Given the description of an element on the screen output the (x, y) to click on. 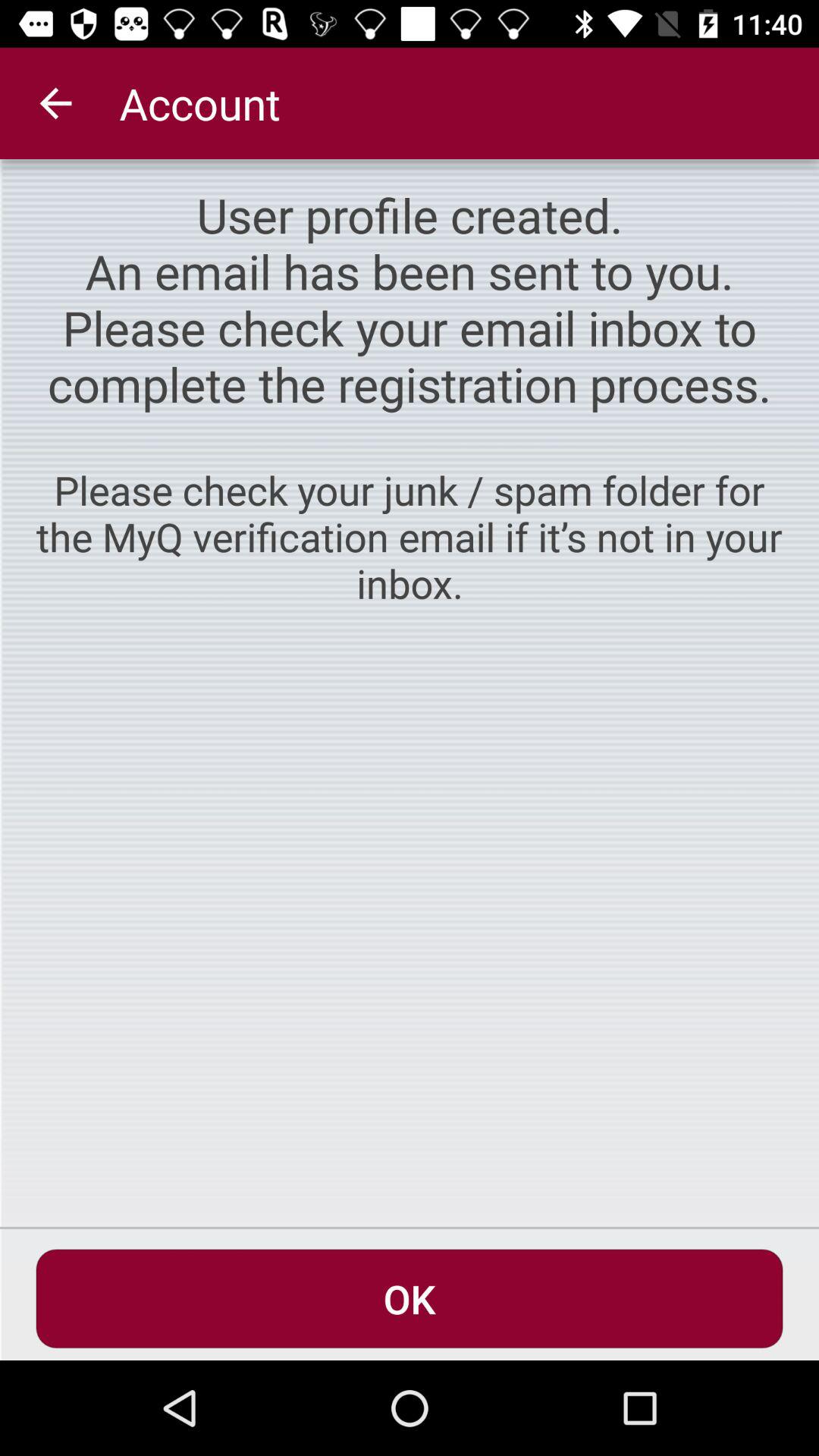
click icon to the left of account icon (55, 103)
